Given the description of an element on the screen output the (x, y) to click on. 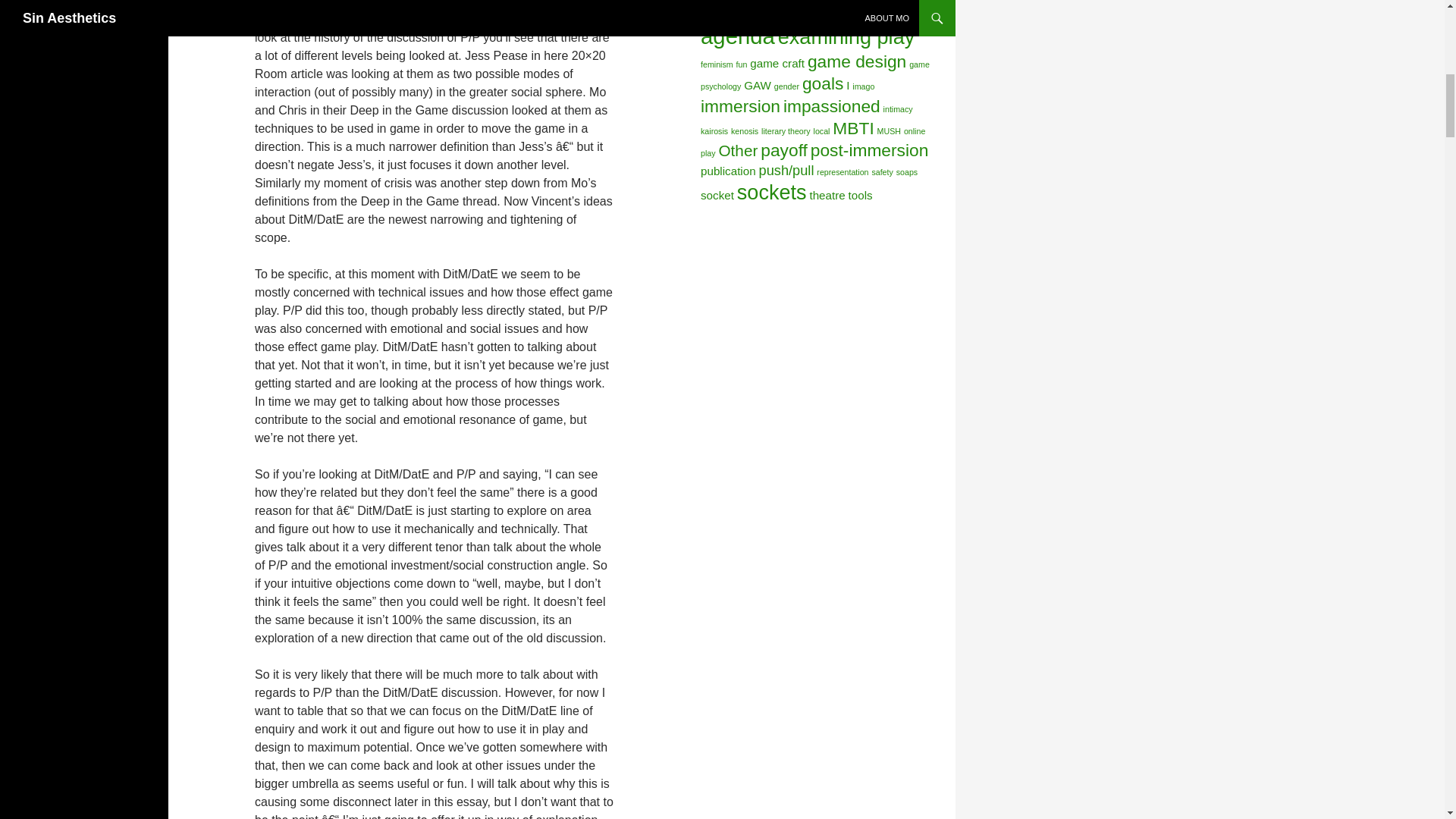
demographics (725, 12)
DitV (771, 9)
